Given the description of an element on the screen output the (x, y) to click on. 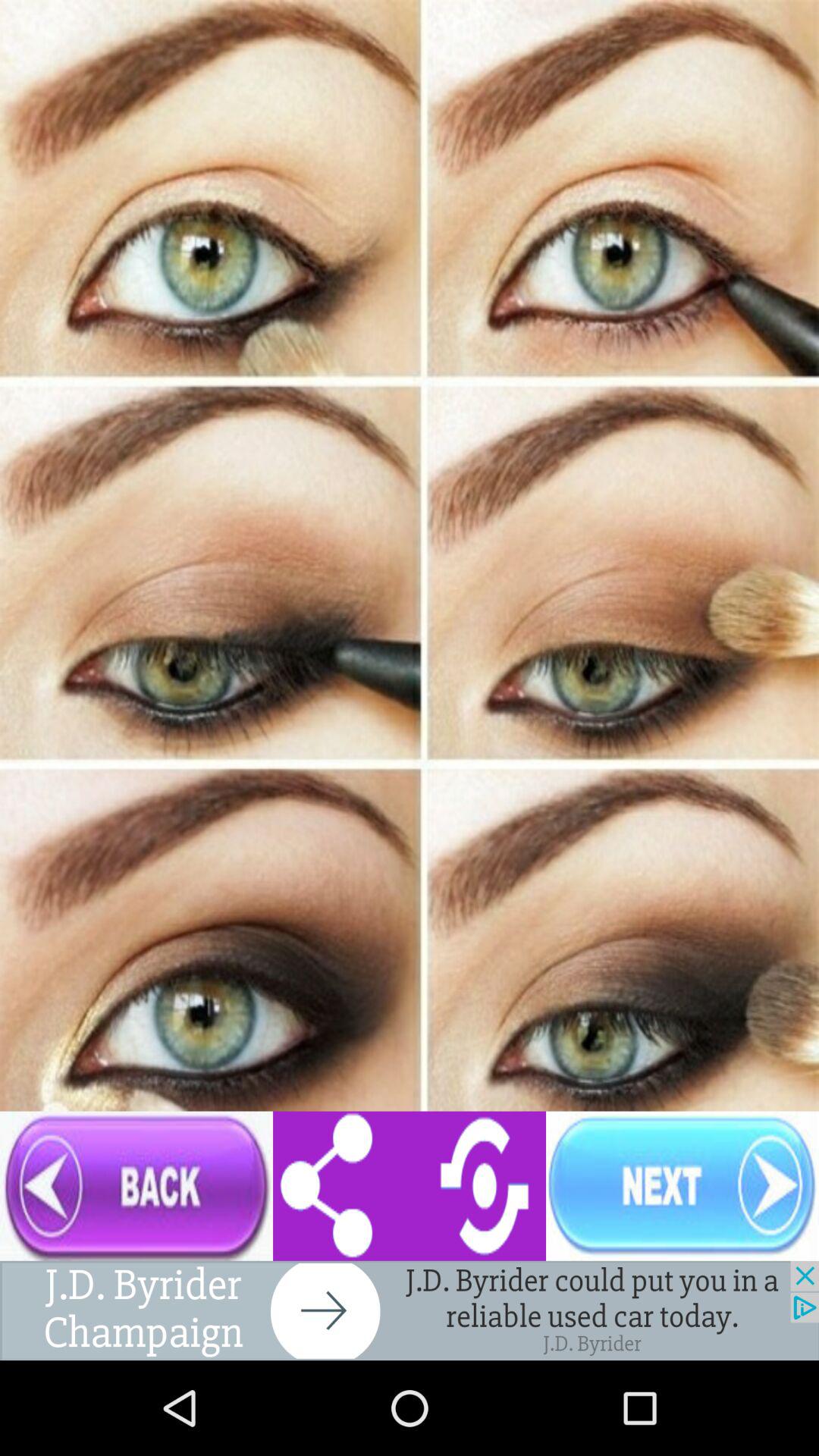
go back (136, 1185)
